Given the description of an element on the screen output the (x, y) to click on. 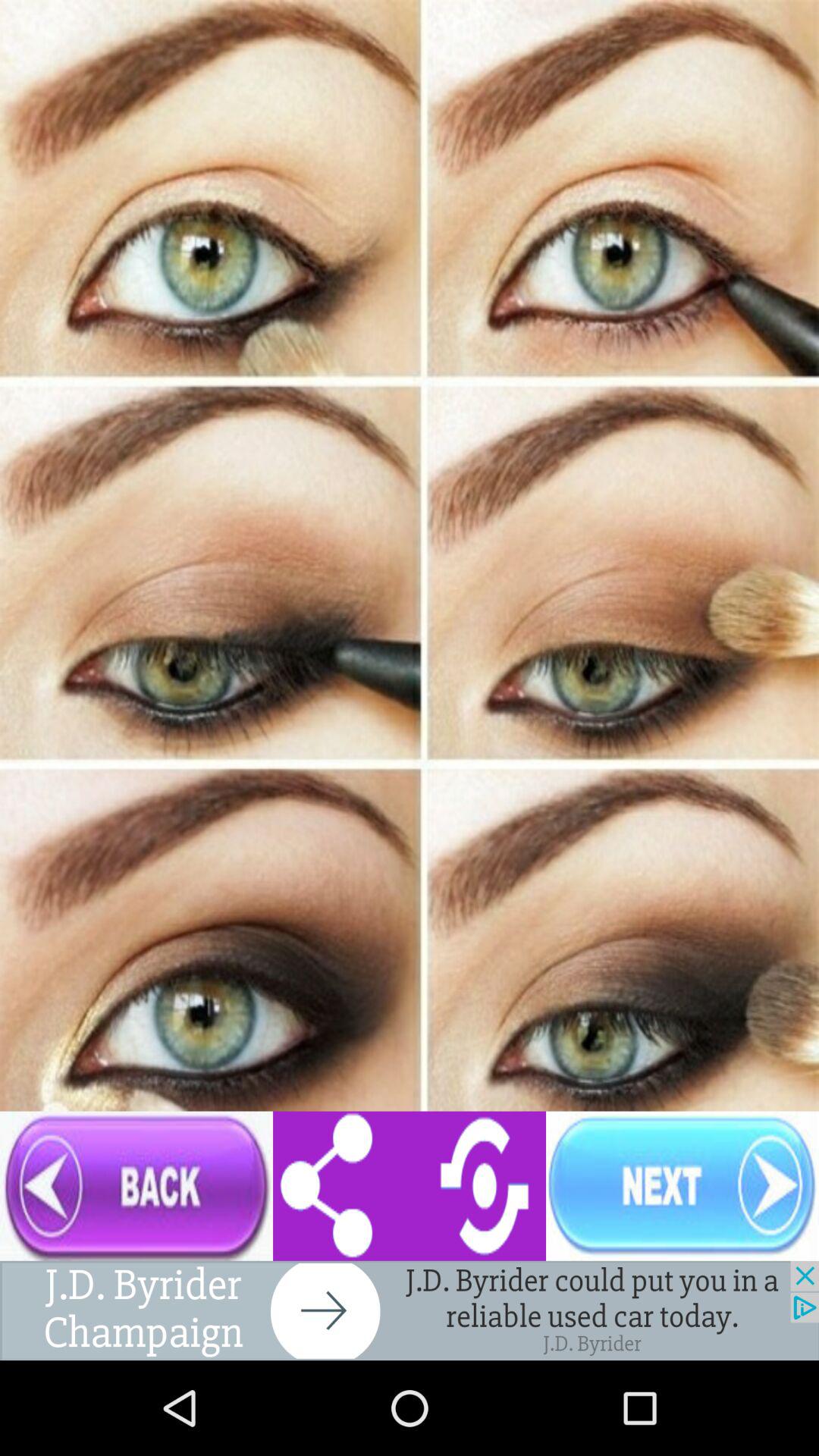
go back (136, 1185)
